Given the description of an element on the screen output the (x, y) to click on. 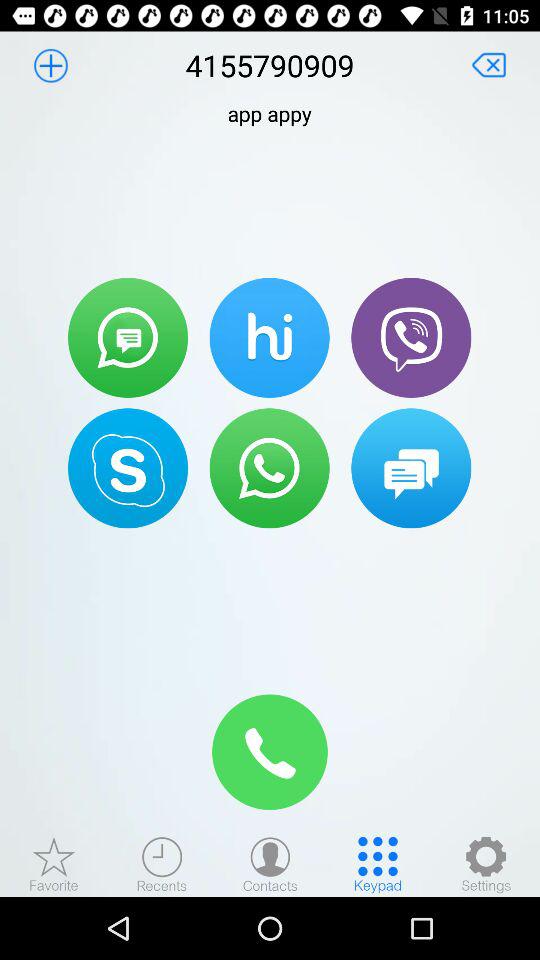
click on the back icon below time (489, 64)
click on the circle above whatsapp (269, 338)
click on logo along with text  beside recents (53, 864)
click on the green color chat icon in the first (128, 338)
click on whtasapp icon (269, 468)
select the icon right to hike (411, 338)
